Given the description of an element on the screen output the (x, y) to click on. 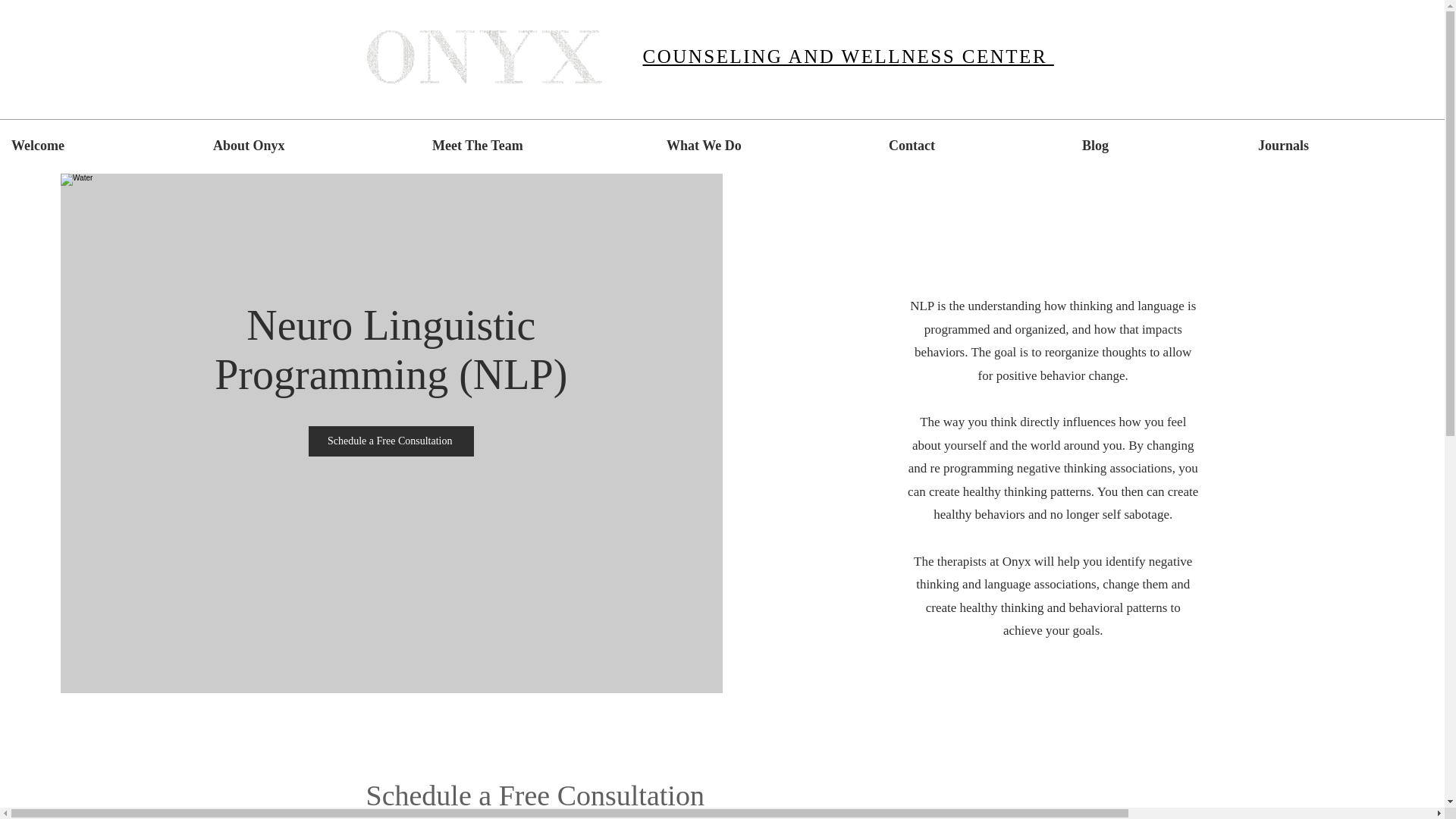
Contact (973, 145)
Blog (1158, 145)
About Onyx (311, 145)
Welcome (101, 145)
Meet The Team (537, 145)
Schedule a Free Consultation (391, 440)
Journals (1345, 145)
COUNSELING AND WELLNESS CENTER  (848, 55)
